Given the description of an element on the screen output the (x, y) to click on. 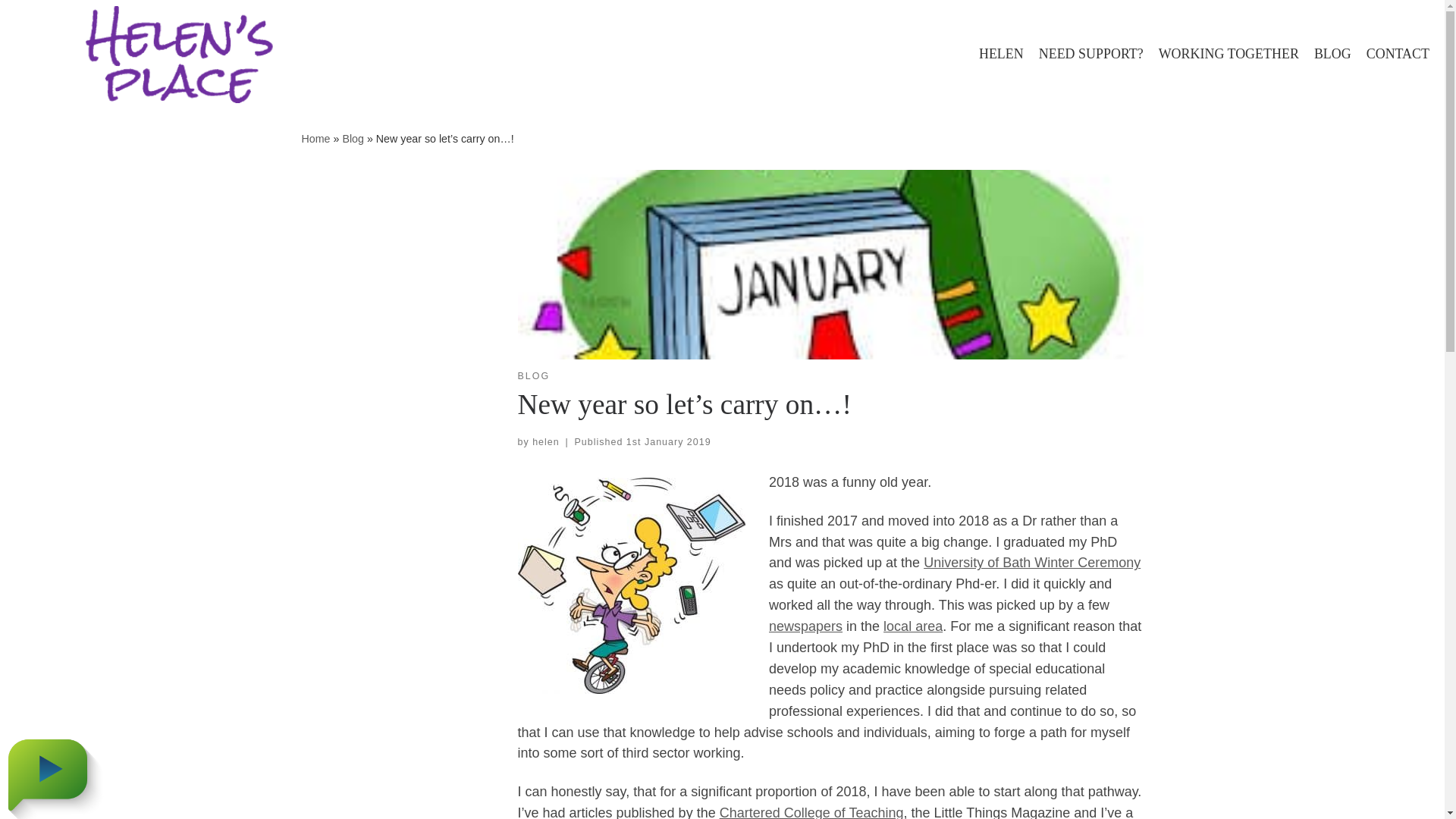
Home (315, 138)
NEED SUPPORT? (1091, 53)
View all posts in Blog (533, 376)
Helen's Place (315, 138)
WORKING TOGETHER (1228, 53)
newspapers (805, 626)
Blog (353, 138)
Logo for Helens Place (180, 54)
Chartered College of Teaching (811, 812)
